Given the description of an element on the screen output the (x, y) to click on. 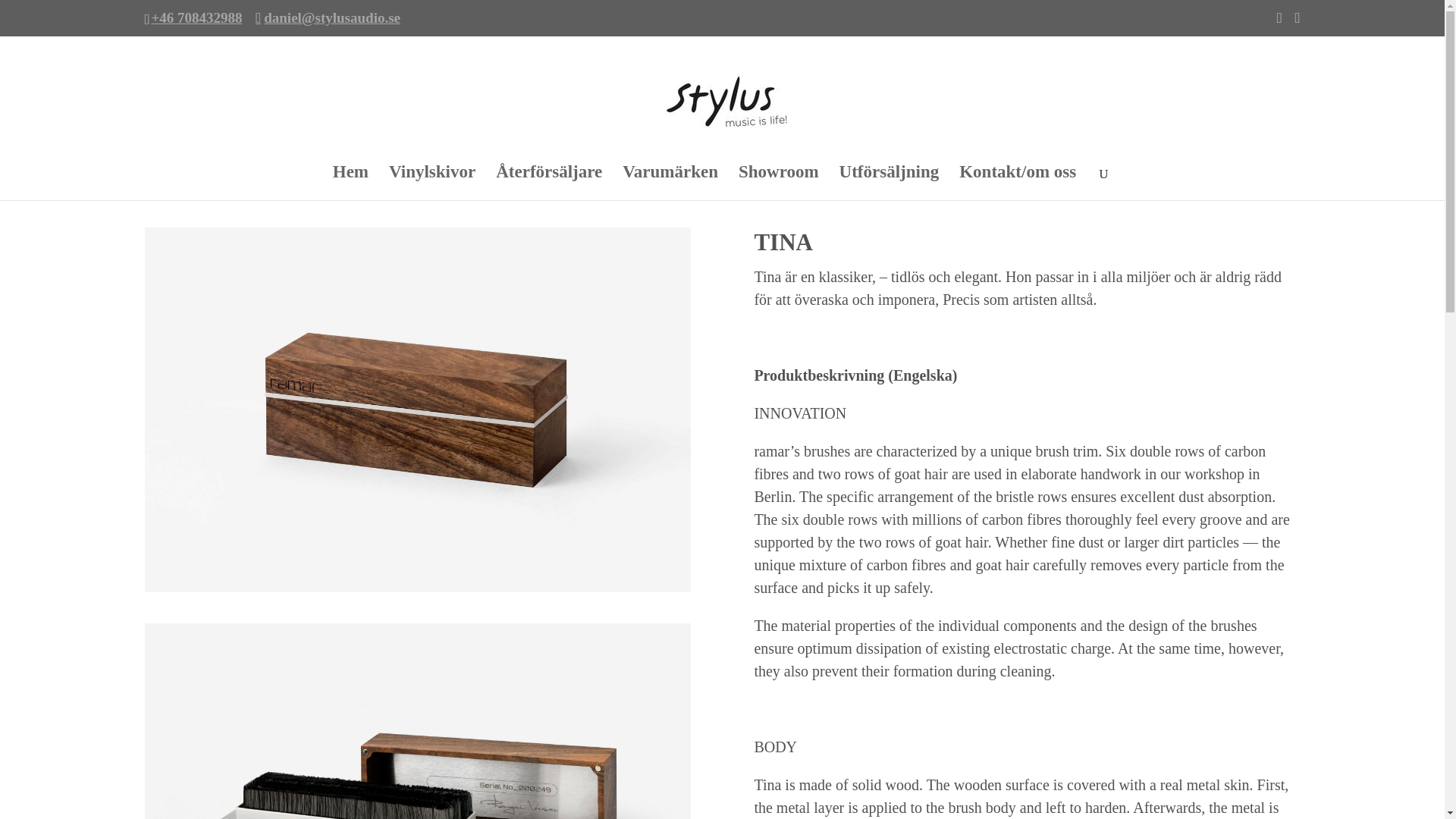
Showroom (778, 183)
ramar-vinyl-brush-tina-sn (417, 721)
Hem (350, 183)
Vinylskivor (432, 183)
